Given the description of an element on the screen output the (x, y) to click on. 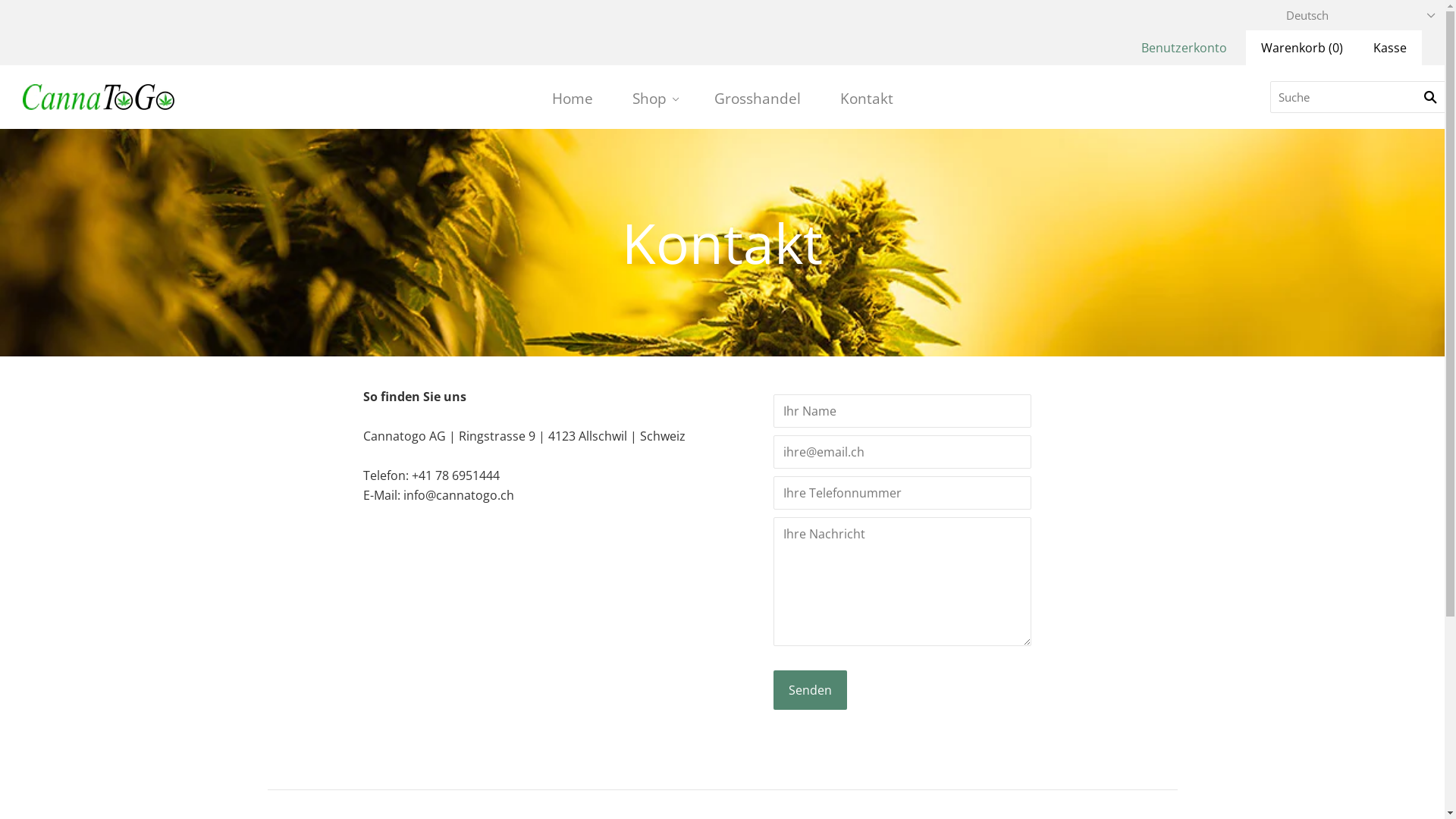
Kasse Element type: text (1389, 47)
Grosshandel Element type: text (757, 98)
Benutzerkonto Element type: text (1183, 47)
Senden Element type: text (810, 689)
Shop Element type: text (653, 98)
Kontakt Element type: text (866, 98)
Home Element type: text (572, 98)
Warenkorb (0) Element type: text (1302, 47)
